Given the description of an element on the screen output the (x, y) to click on. 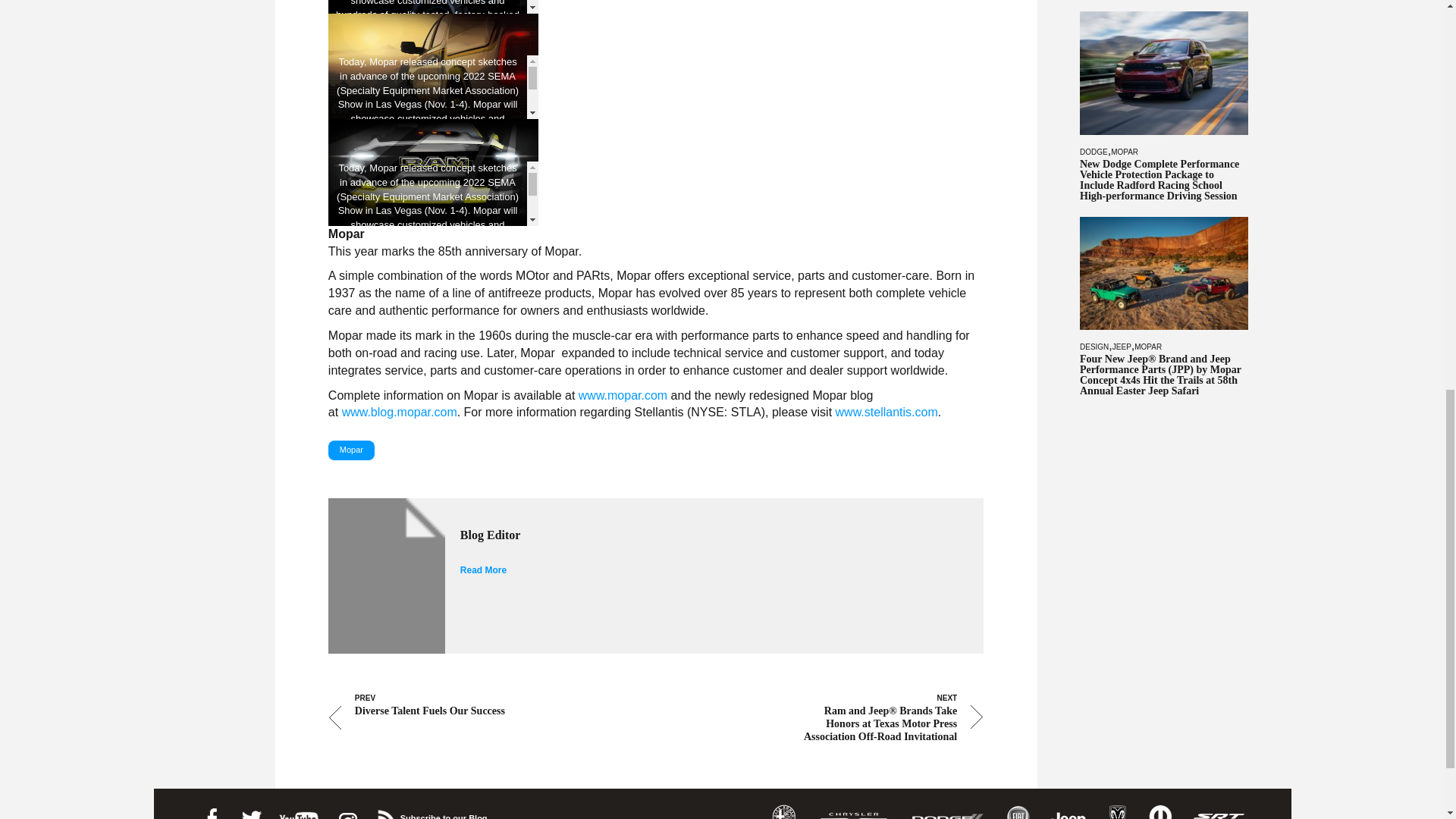
DESIGN (1094, 345)
DODGE (1094, 151)
MOPAR (1124, 151)
